Given the description of an element on the screen output the (x, y) to click on. 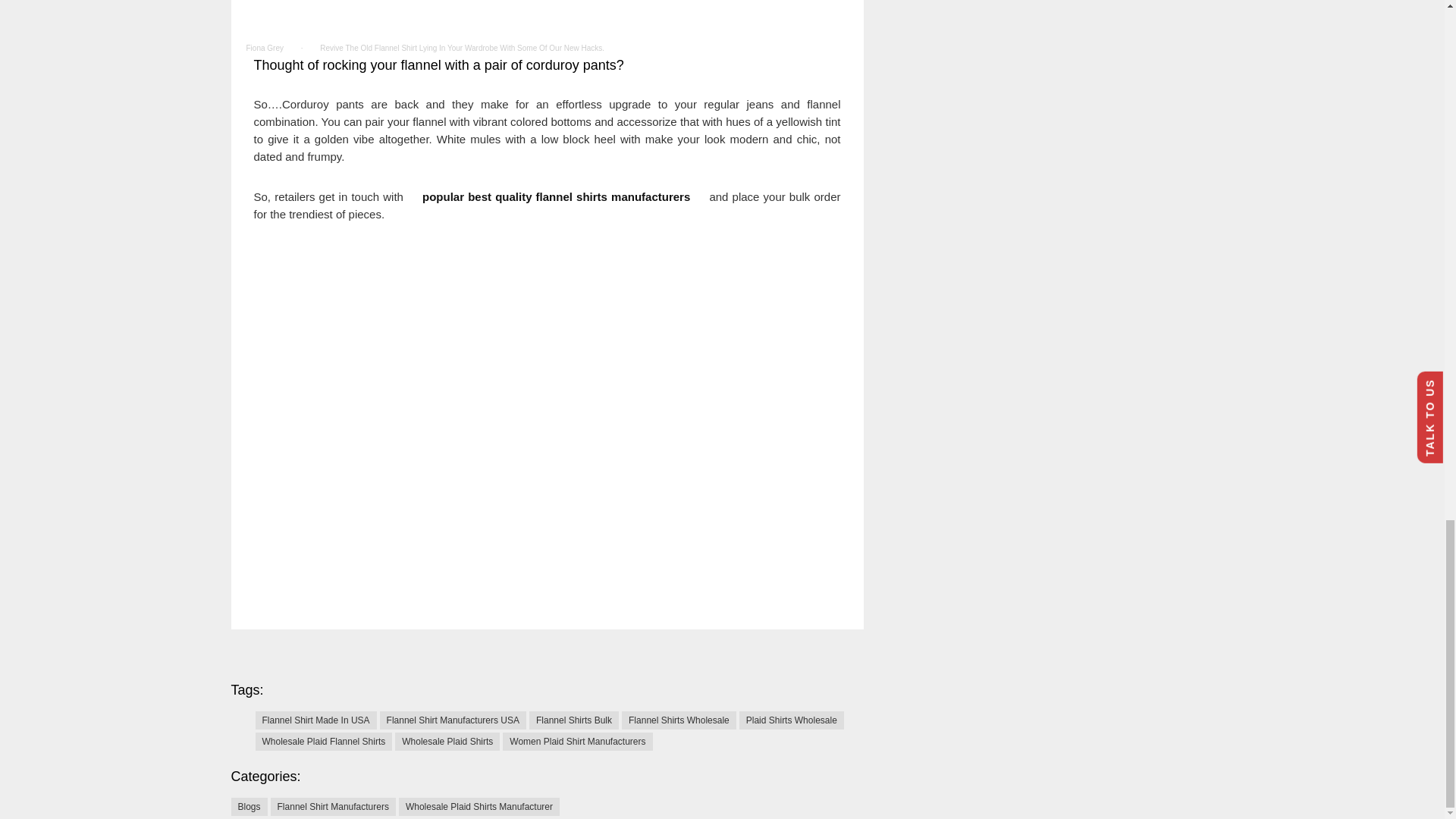
Flannel Shirt Made In USA (314, 720)
Women Plaid Shirt Manufacturers (577, 741)
Flannel Shirt Manufacturers USA (452, 720)
Plaid Shirts Wholesale (791, 720)
popular best quality flannel shirts manufacturers (558, 196)
Fiona Grey (264, 48)
Flannel Shirts Bulk (573, 720)
Flannel Shirts Wholesale (678, 720)
Wholesale Plaid Flannel Shirts (322, 741)
